Given the description of an element on the screen output the (x, y) to click on. 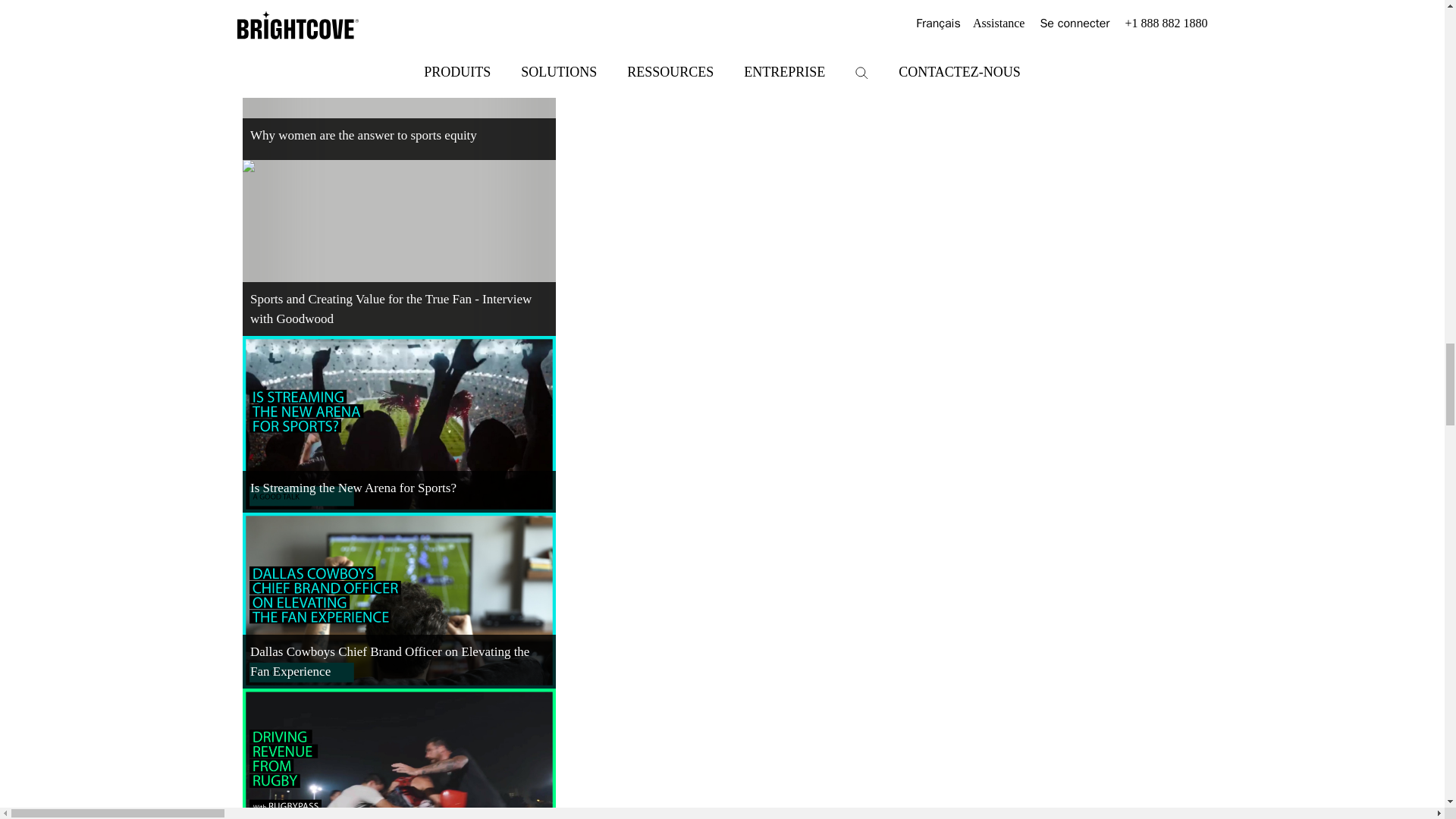
Why women are the answer to sports equity (399, 79)
Driving Revenue From Rugby (399, 753)
Is Streaming the New Arena for Sports? (399, 423)
